Given the description of an element on the screen output the (x, y) to click on. 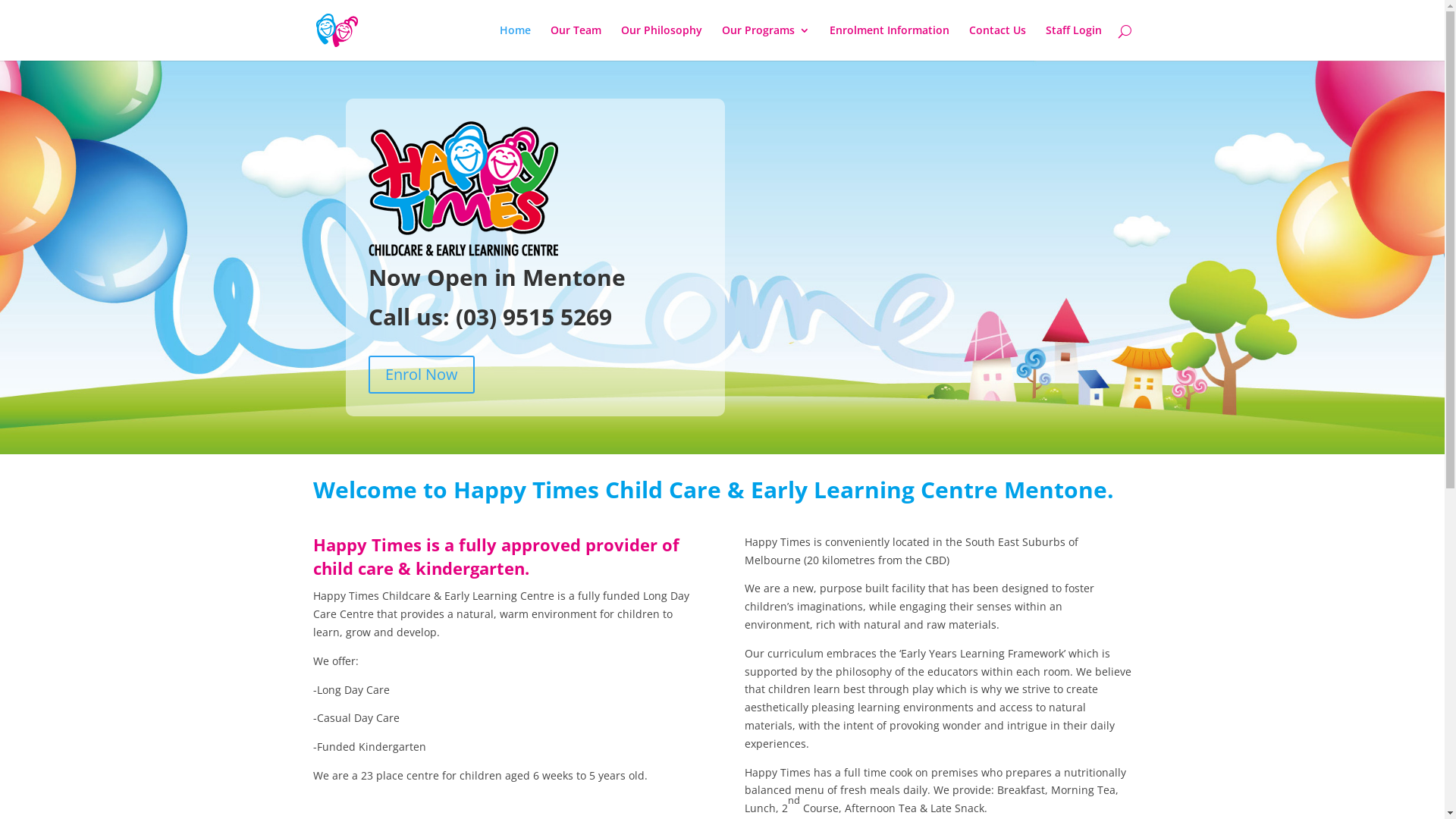
Enrol Now Element type: text (421, 374)
Our Programs Element type: text (765, 42)
Contact Us Element type: text (997, 42)
Staff Login Element type: text (1072, 42)
Home Element type: text (514, 42)
Enrolment Information Element type: text (889, 42)
Our Team Element type: text (575, 42)
Our Philosophy Element type: text (660, 42)
